Given the description of an element on the screen output the (x, y) to click on. 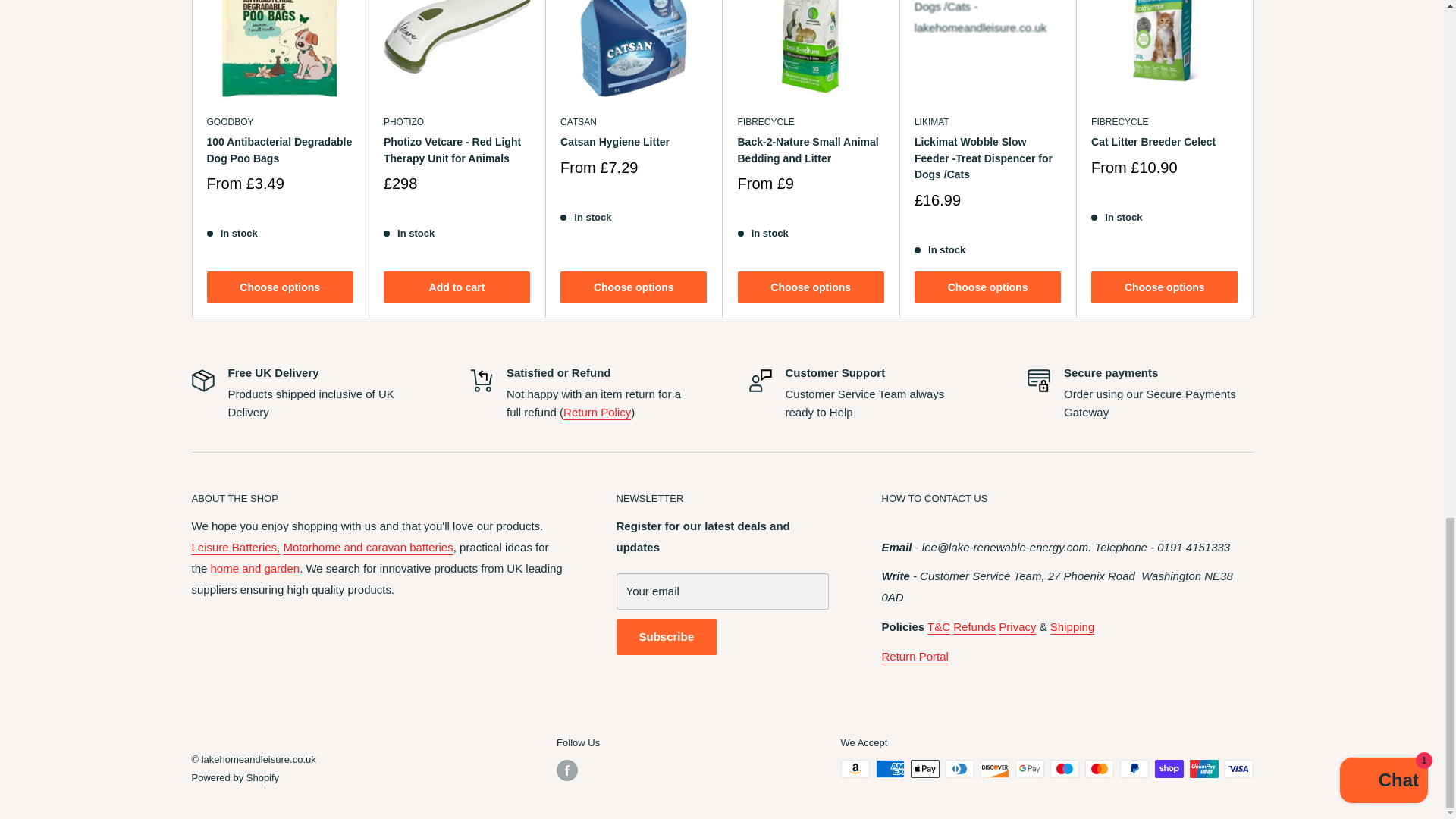
Refund Policy (596, 411)
Refund Policy (974, 626)
Returns (913, 656)
Leisure Batteries (234, 546)
Terms of Service (938, 626)
Garden Lighting (255, 567)
Shipping Policy (1071, 626)
Leisure Batteries (367, 546)
Privacy Policy (1016, 626)
